Given the description of an element on the screen output the (x, y) to click on. 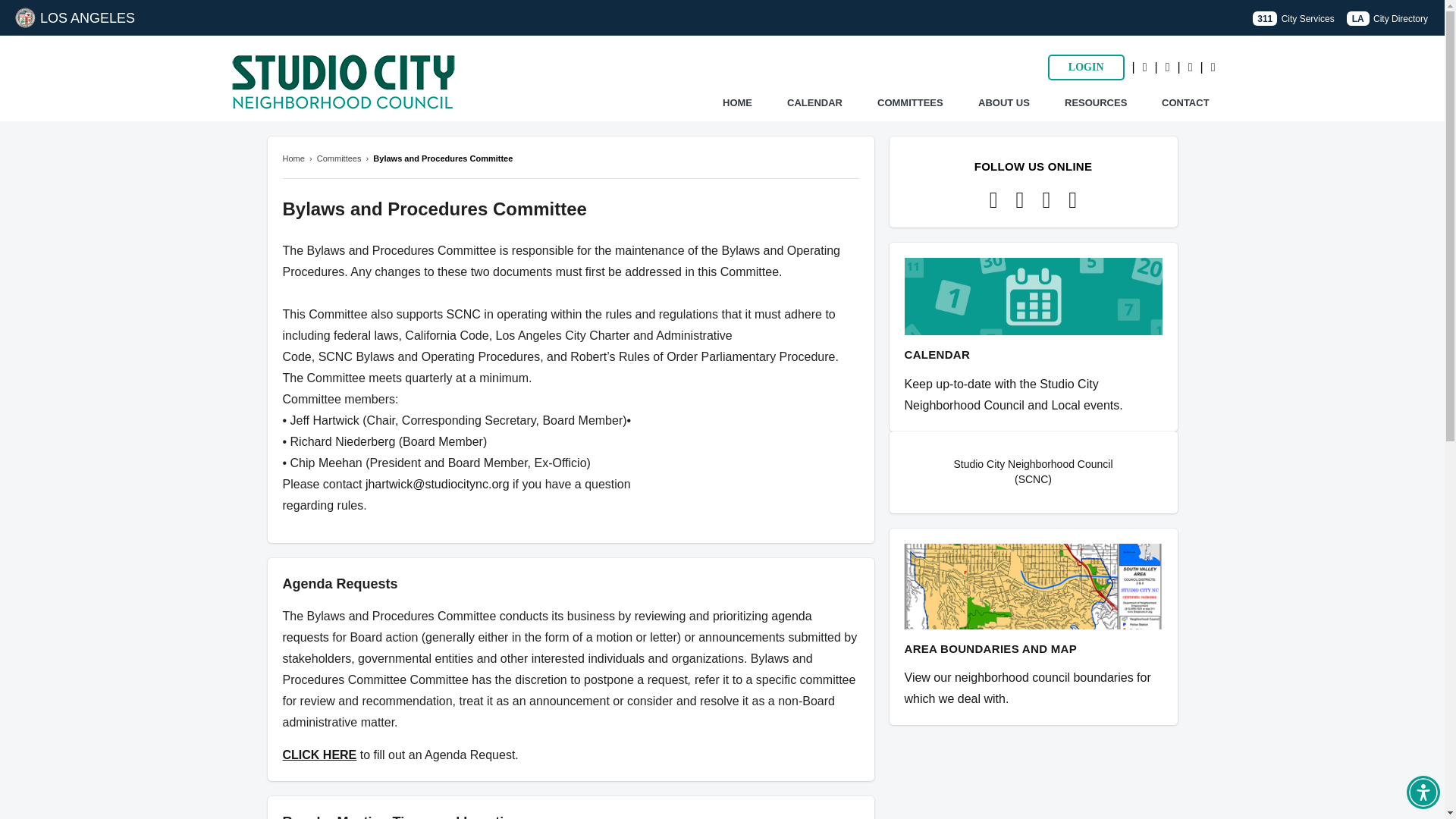
Accessibility Menu (1422, 792)
LOGIN (1086, 67)
Committees (339, 157)
CALENDAR (814, 102)
Bylaws and Procedures Committee (442, 157)
LA City Directory (1387, 18)
CLICK HERE (319, 754)
agenda requests (546, 626)
CONTACT (1185, 102)
311 City Services (1292, 18)
HOME (737, 102)
COMMITTEES (909, 102)
RESOURCES (1095, 102)
ABOUT US (1003, 102)
Home (293, 157)
